Given the description of an element on the screen output the (x, y) to click on. 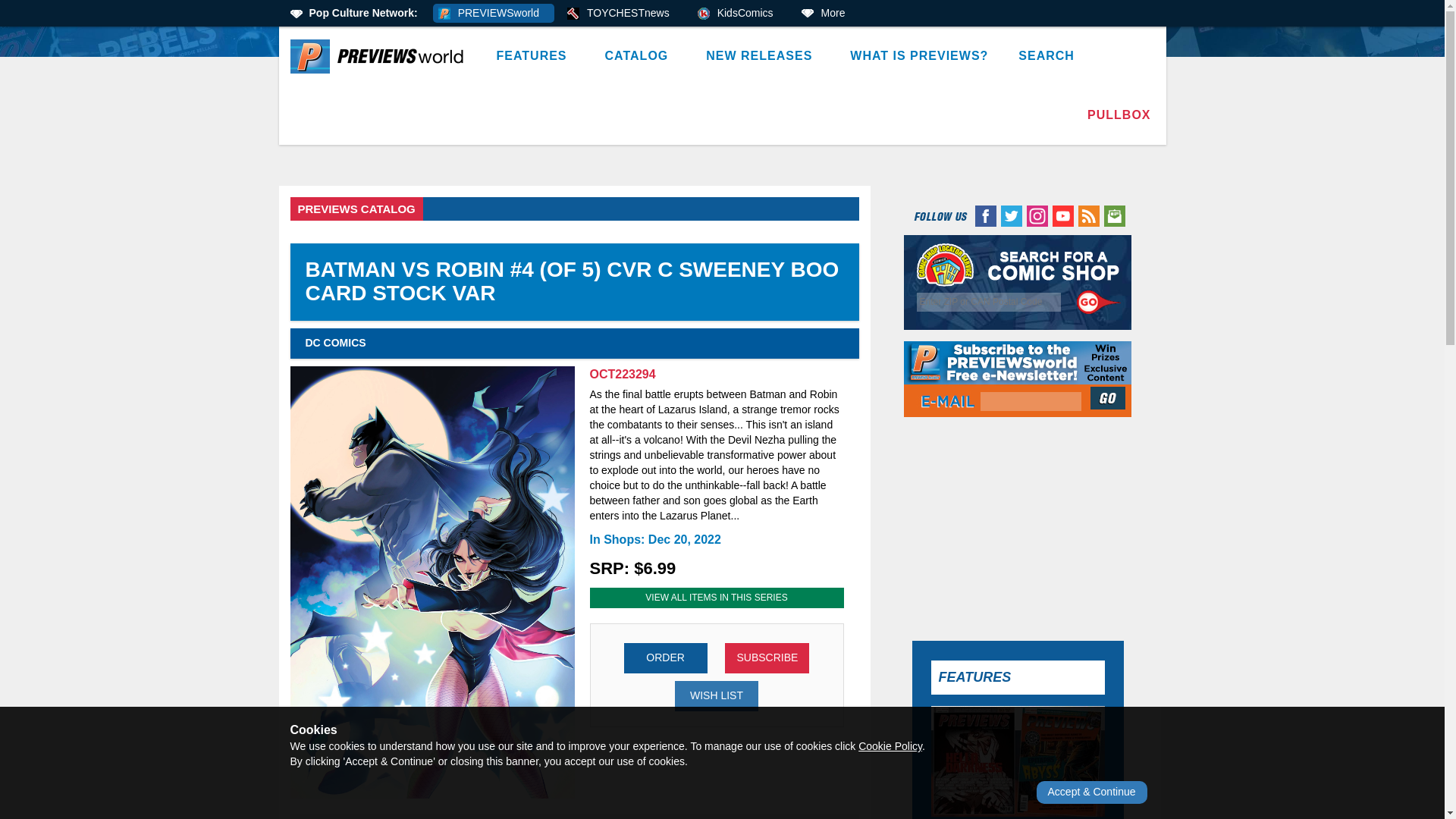
Join Our NewsLetter (1109, 397)
TOYCHESTnews (623, 13)
Email Address Input for Newsletter Signup (1030, 401)
KidsComics (741, 13)
PREVIEWSworld (493, 13)
Enter ZIP or CAN Postal Code (989, 302)
CATALOG (640, 55)
FEATURES (534, 55)
More (828, 13)
